Given the description of an element on the screen output the (x, y) to click on. 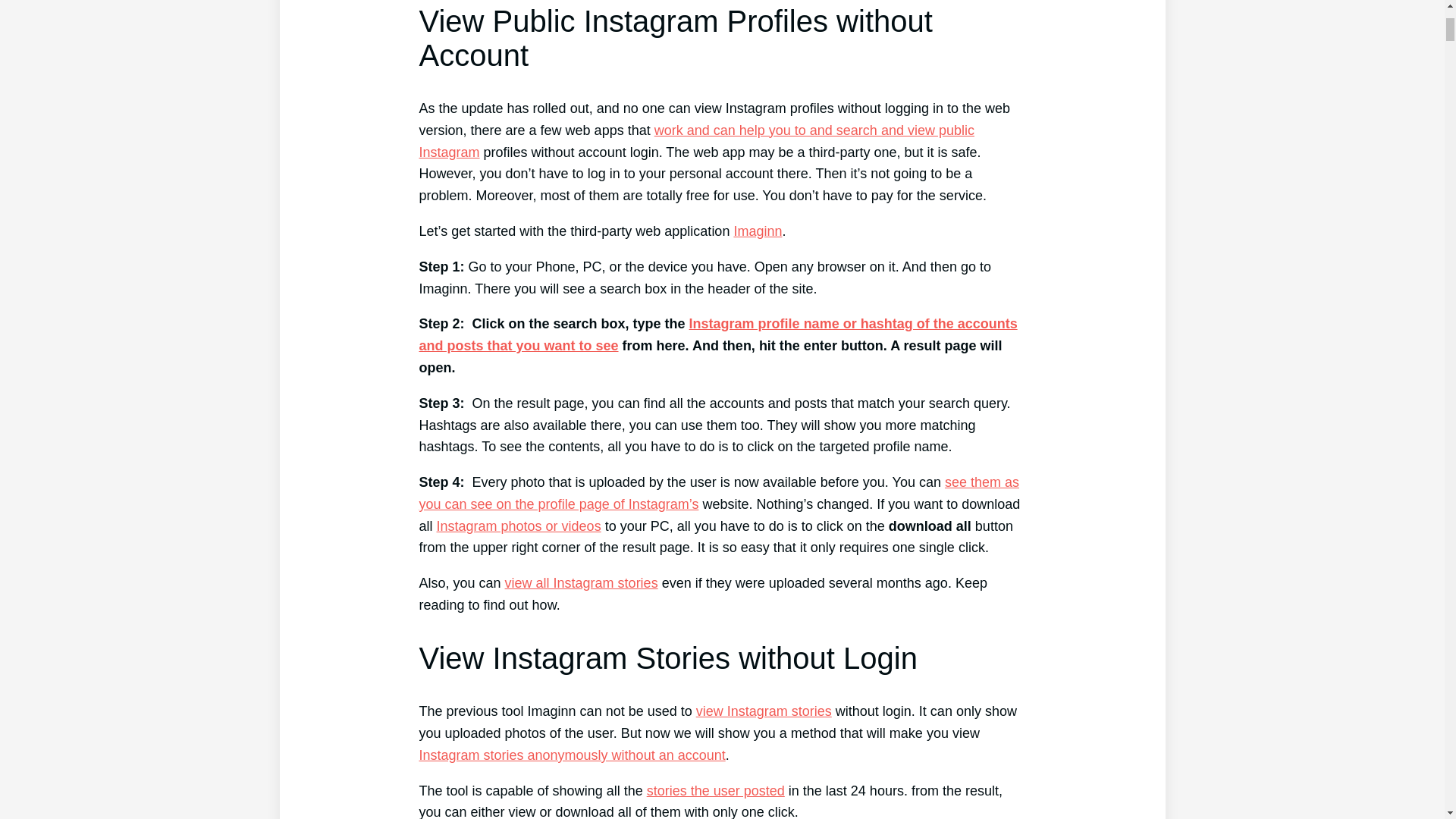
stories the user posted (715, 790)
Instagram stories anonymously without an account (572, 754)
Instagram photos or videos (518, 525)
Imaginn (757, 231)
view all Instagram stories (581, 582)
view Instagram stories (763, 711)
